Given the description of an element on the screen output the (x, y) to click on. 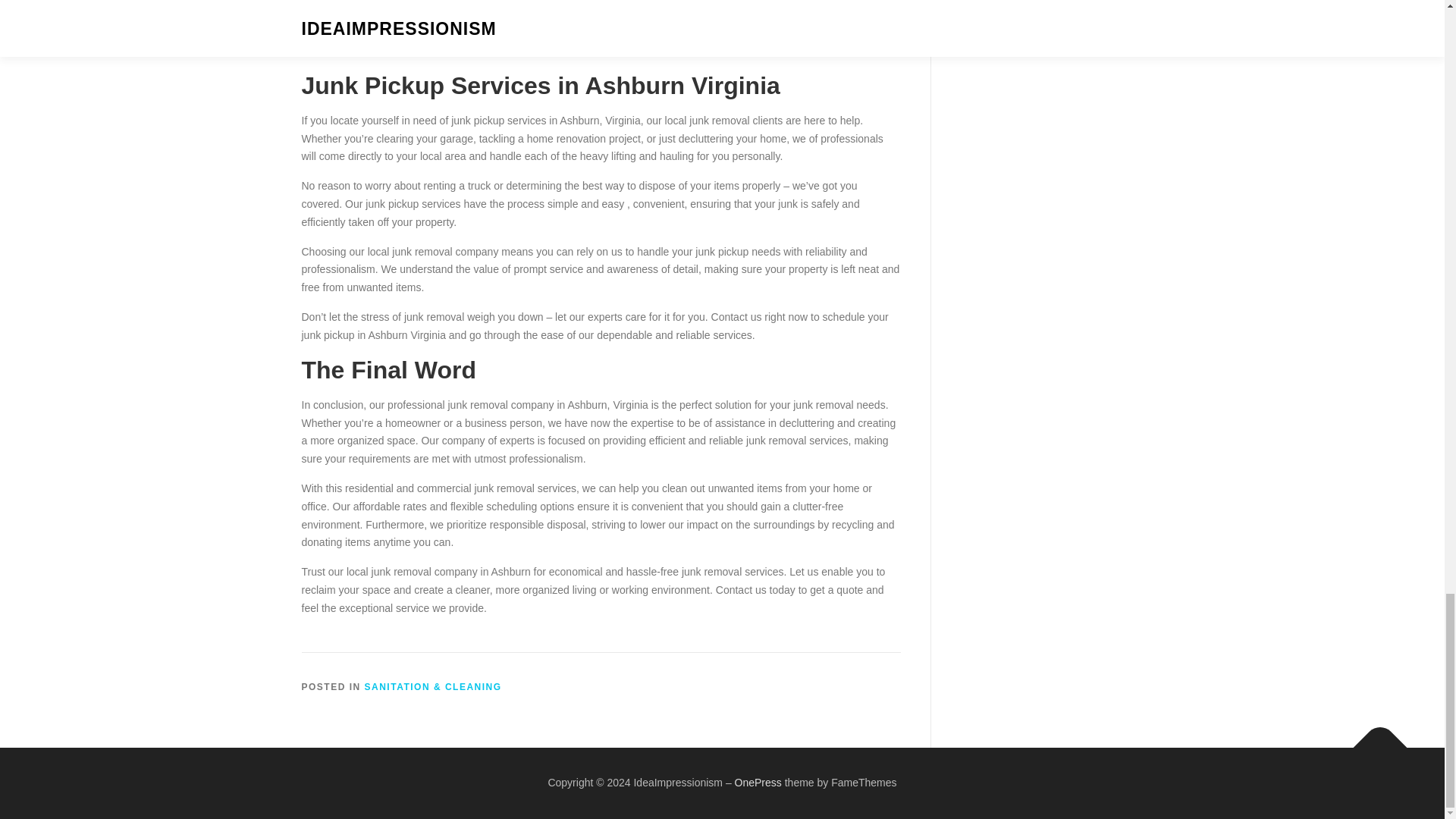
Back To Top (1372, 740)
